Given the description of an element on the screen output the (x, y) to click on. 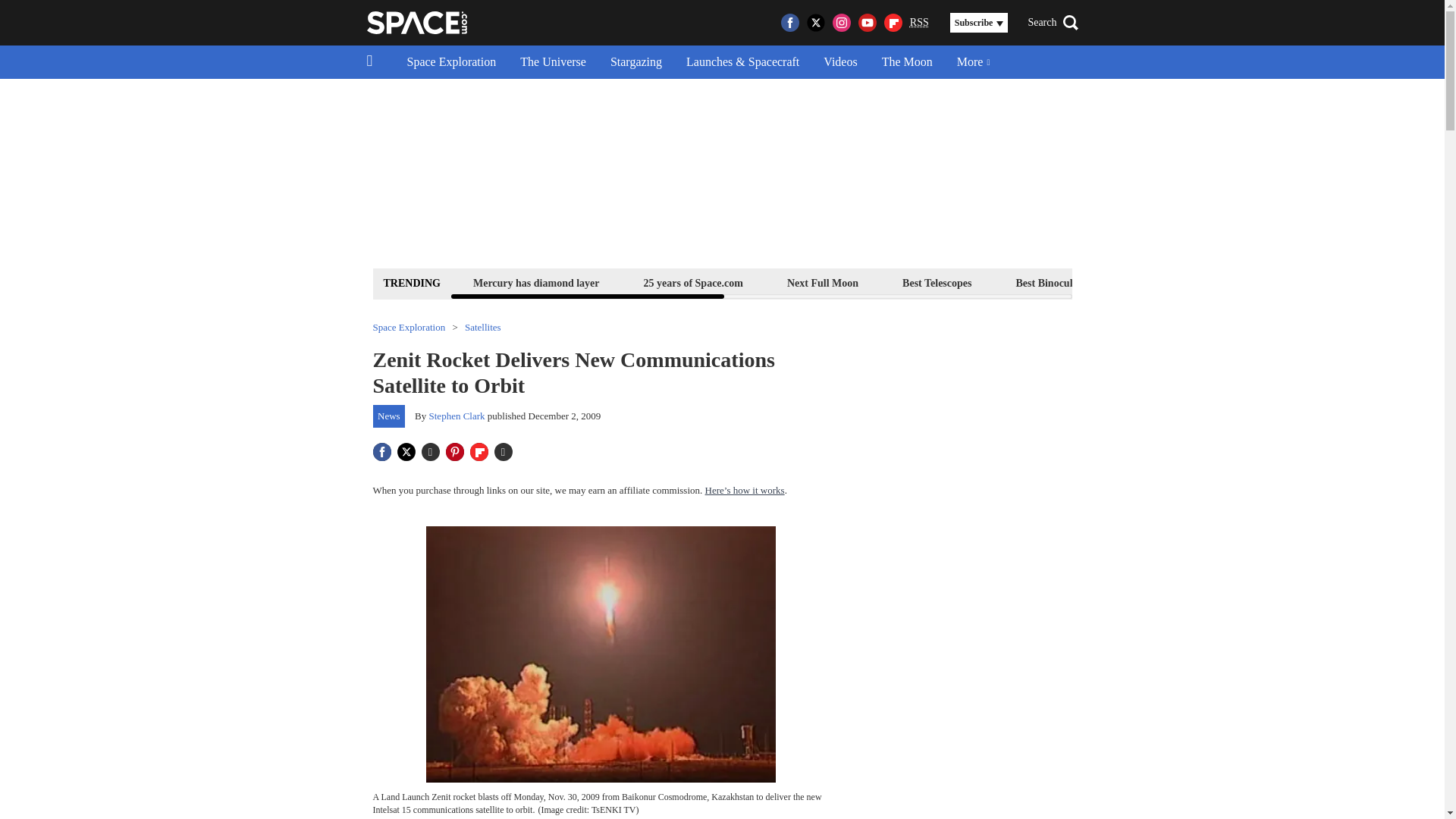
25 years of Space.com (693, 282)
Really Simple Syndication (919, 21)
The Moon (906, 61)
RSS (919, 22)
Stargazing (636, 61)
Best Telescopes (936, 282)
Space Exploration (451, 61)
Mercury has diamond layer (536, 282)
The Universe (553, 61)
Best Star Projectors (1176, 282)
Next Full Moon (822, 282)
Space Calendar (1301, 282)
Best Binoculars (1051, 282)
Videos (839, 61)
